Given the description of an element on the screen output the (x, y) to click on. 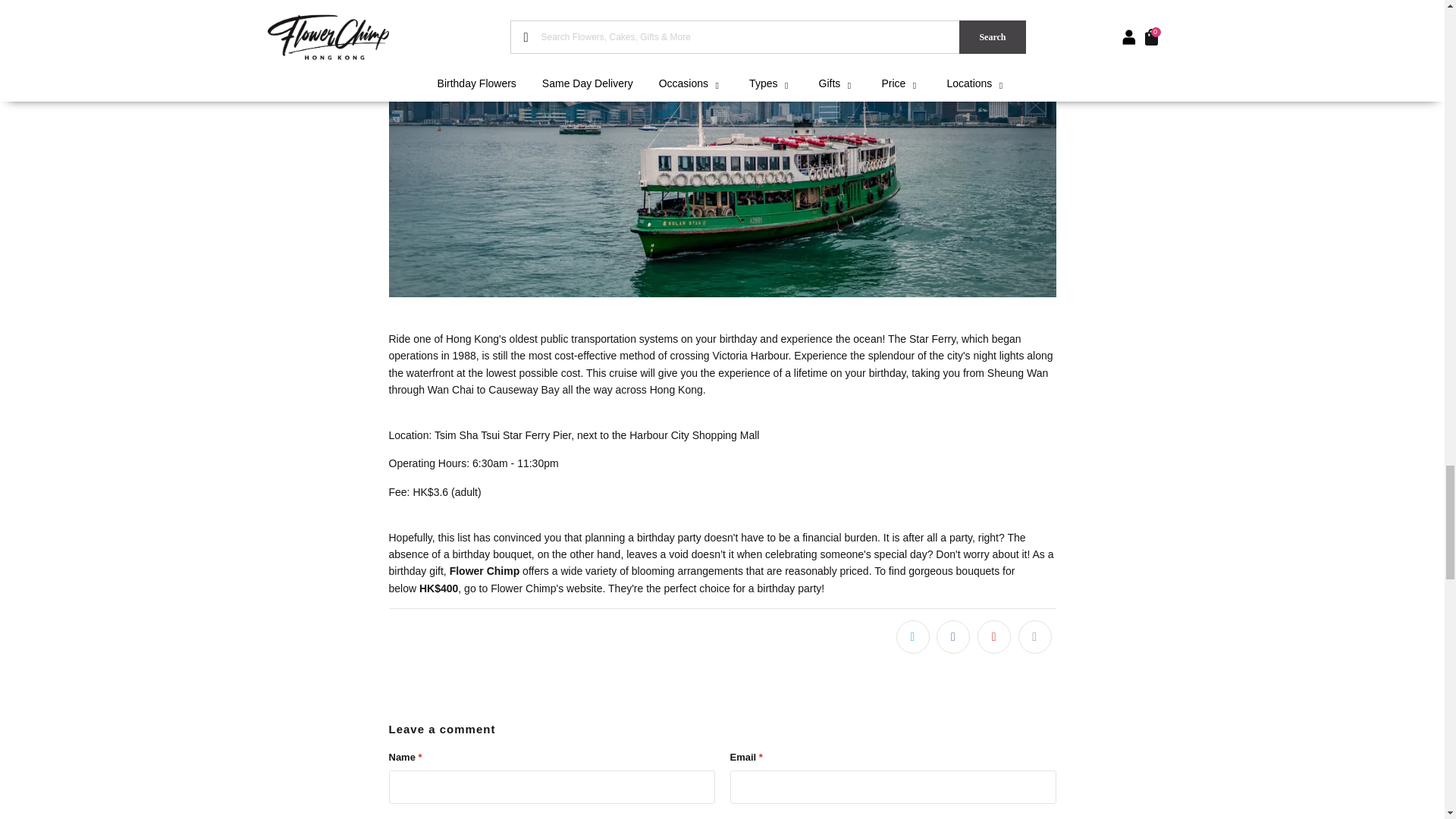
Email this to a friend (1034, 636)
Share this on Twitter (913, 636)
Share this on Facebook (952, 636)
Share this on Pinterest (993, 636)
